Given the description of an element on the screen output the (x, y) to click on. 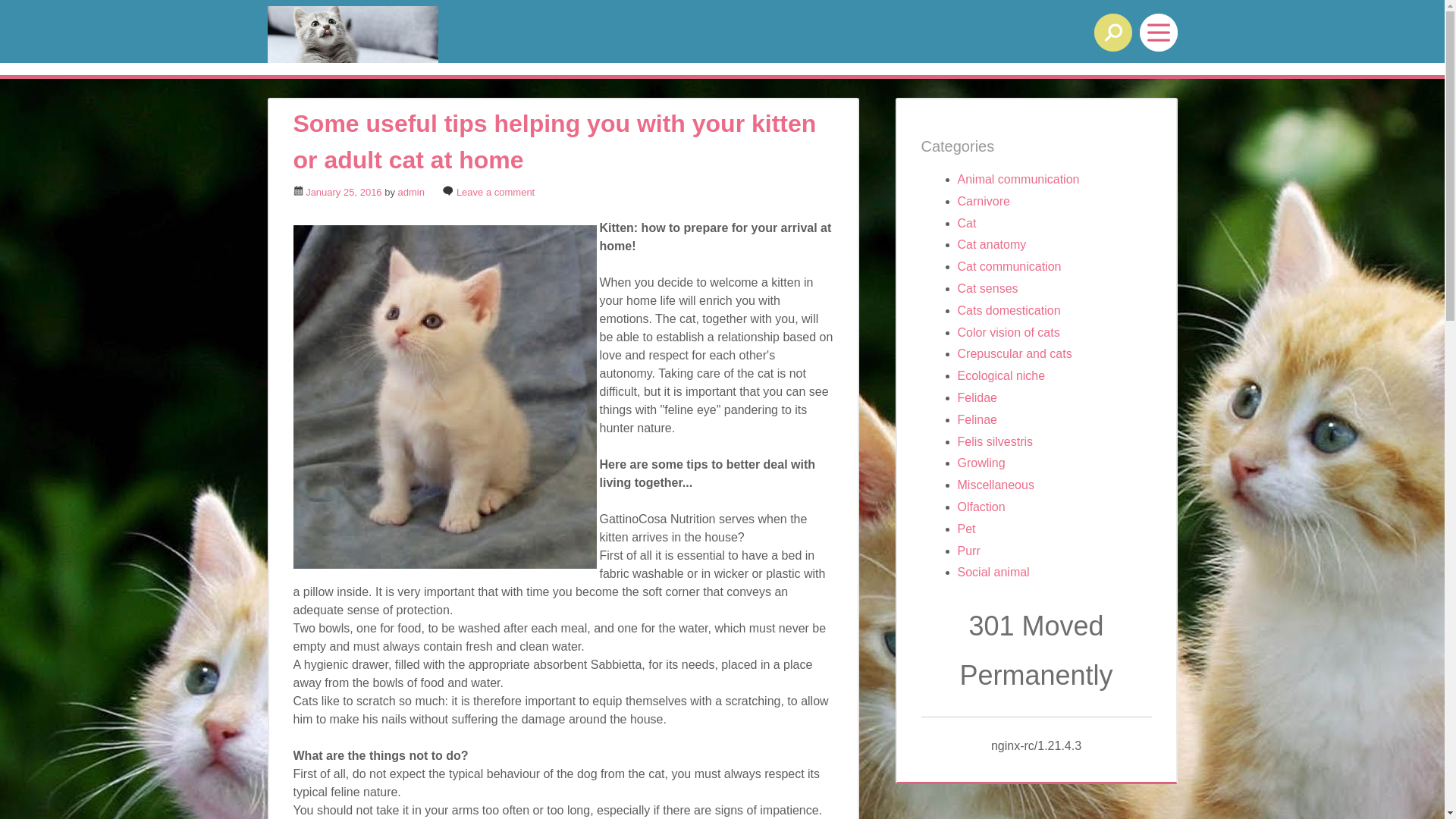
Cats love and love for cats Element type: hover (448, 34)
Carnivore Element type: text (983, 200)
Cat anatomy Element type: text (991, 244)
Cat senses Element type: text (987, 288)
Felis silvestris Element type: text (994, 441)
Miscellaneous Element type: text (995, 484)
Color vision of cats Element type: text (1008, 332)
admin Element type: text (411, 191)
Purr Element type: text (968, 550)
Growling Element type: text (980, 462)
Leave a comment Element type: text (495, 191)
Cat Element type: text (966, 222)
Felinae Element type: text (976, 419)
Ecological niche Element type: text (1000, 375)
January 25, 2016 Element type: text (344, 191)
Social animal Element type: text (993, 571)
Felidae Element type: text (976, 397)
Olfaction Element type: text (980, 506)
Pet Element type: text (966, 528)
Animal communication Element type: text (1018, 178)
Skip to content Element type: text (43, 78)
Cats domestication Element type: text (1008, 310)
Crepuscular and cats Element type: text (1014, 353)
Cat communication Element type: text (1008, 266)
